Given the description of an element on the screen output the (x, y) to click on. 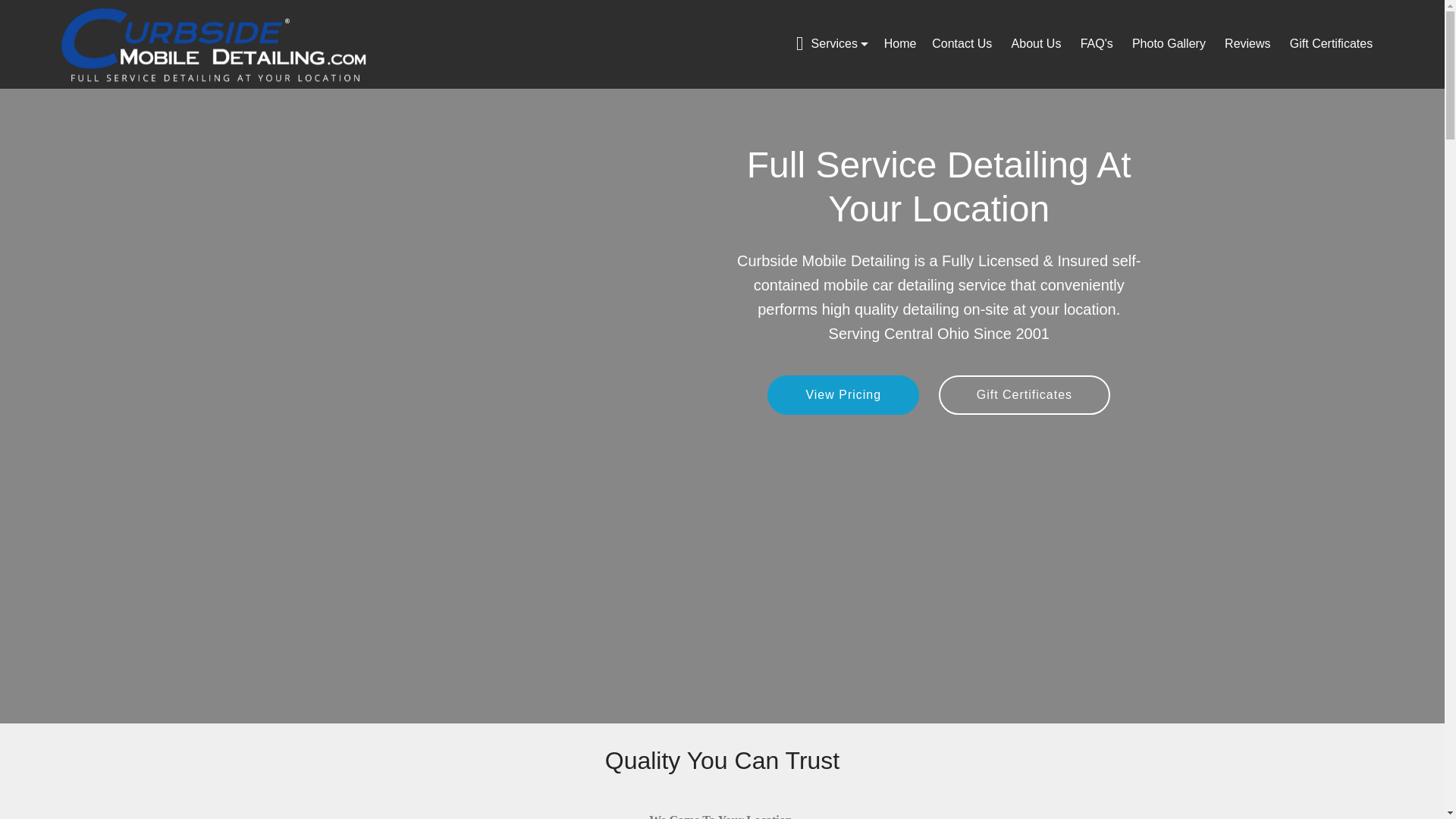
Gift Certificates (1024, 394)
Reviews  (1249, 43)
FAQ's  (1098, 43)
About Us  (1037, 43)
Photo Gallery  (1170, 43)
Contact Us  (963, 43)
Services (831, 43)
Curbside Mobile Detailing (215, 43)
View Pricing (842, 394)
Gift Certificates  (1332, 43)
